Given the description of an element on the screen output the (x, y) to click on. 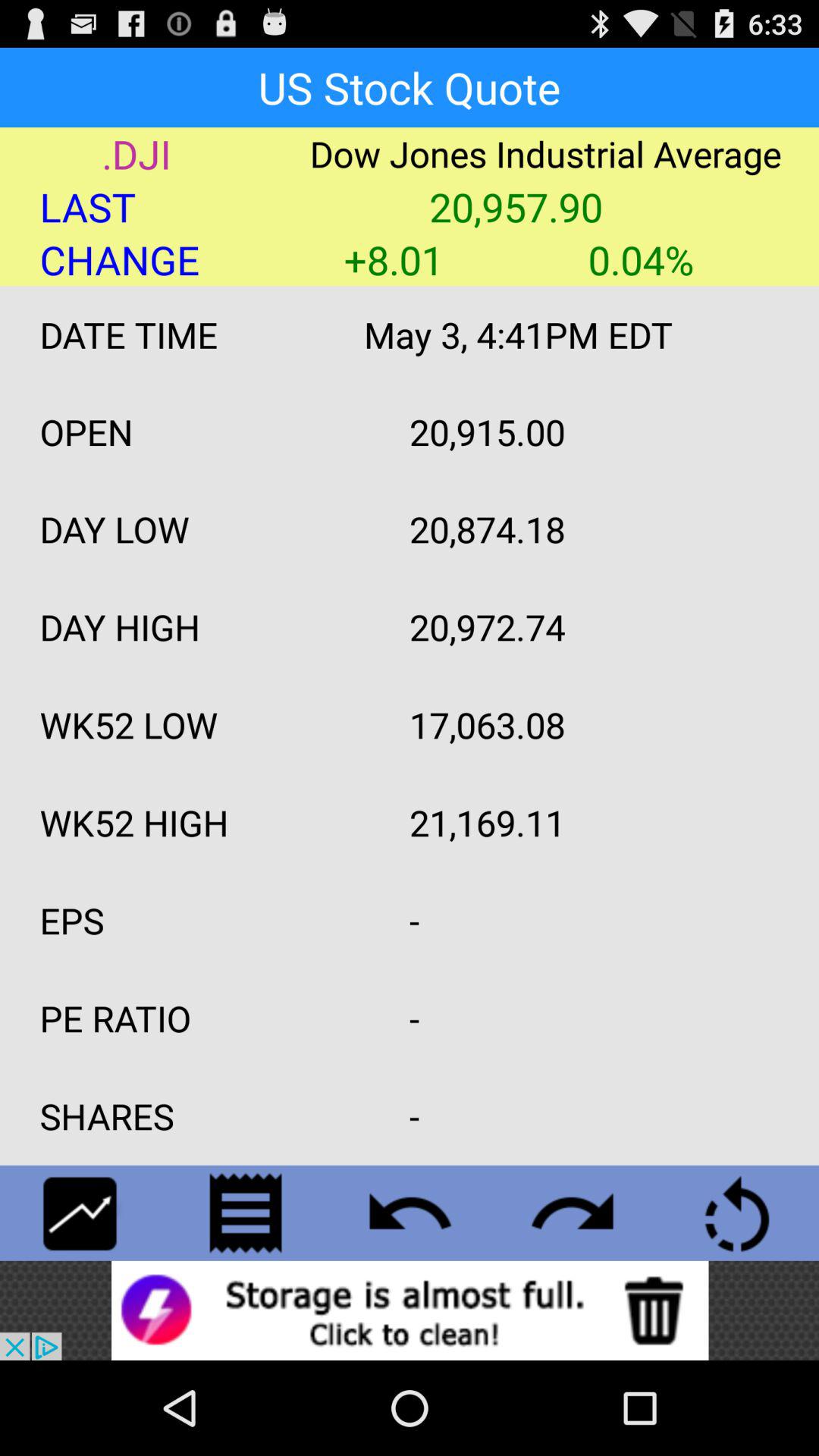
go to next (573, 1212)
